Given the description of an element on the screen output the (x, y) to click on. 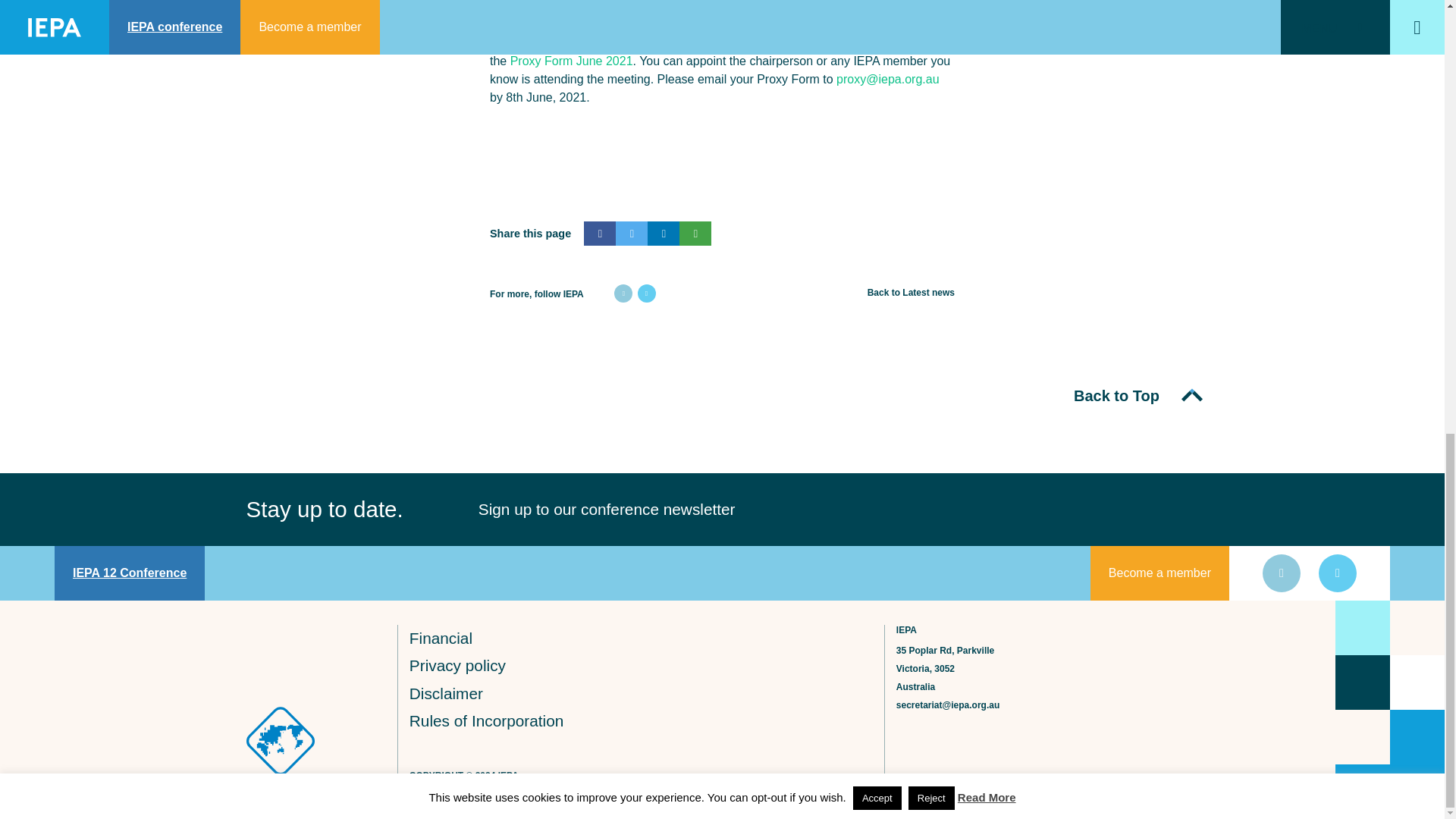
Back to Top (1136, 396)
Share this via email (695, 233)
Share this on Twitter (631, 233)
Share this on Facebook (599, 233)
Share this on LinkedIn (663, 233)
